Given the description of an element on the screen output the (x, y) to click on. 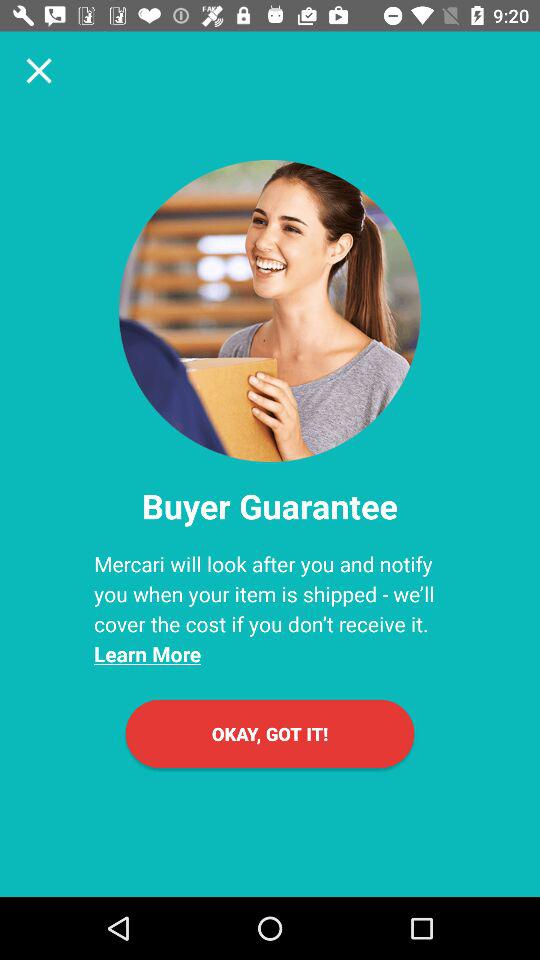
exit current informational panel (39, 70)
